Given the description of an element on the screen output the (x, y) to click on. 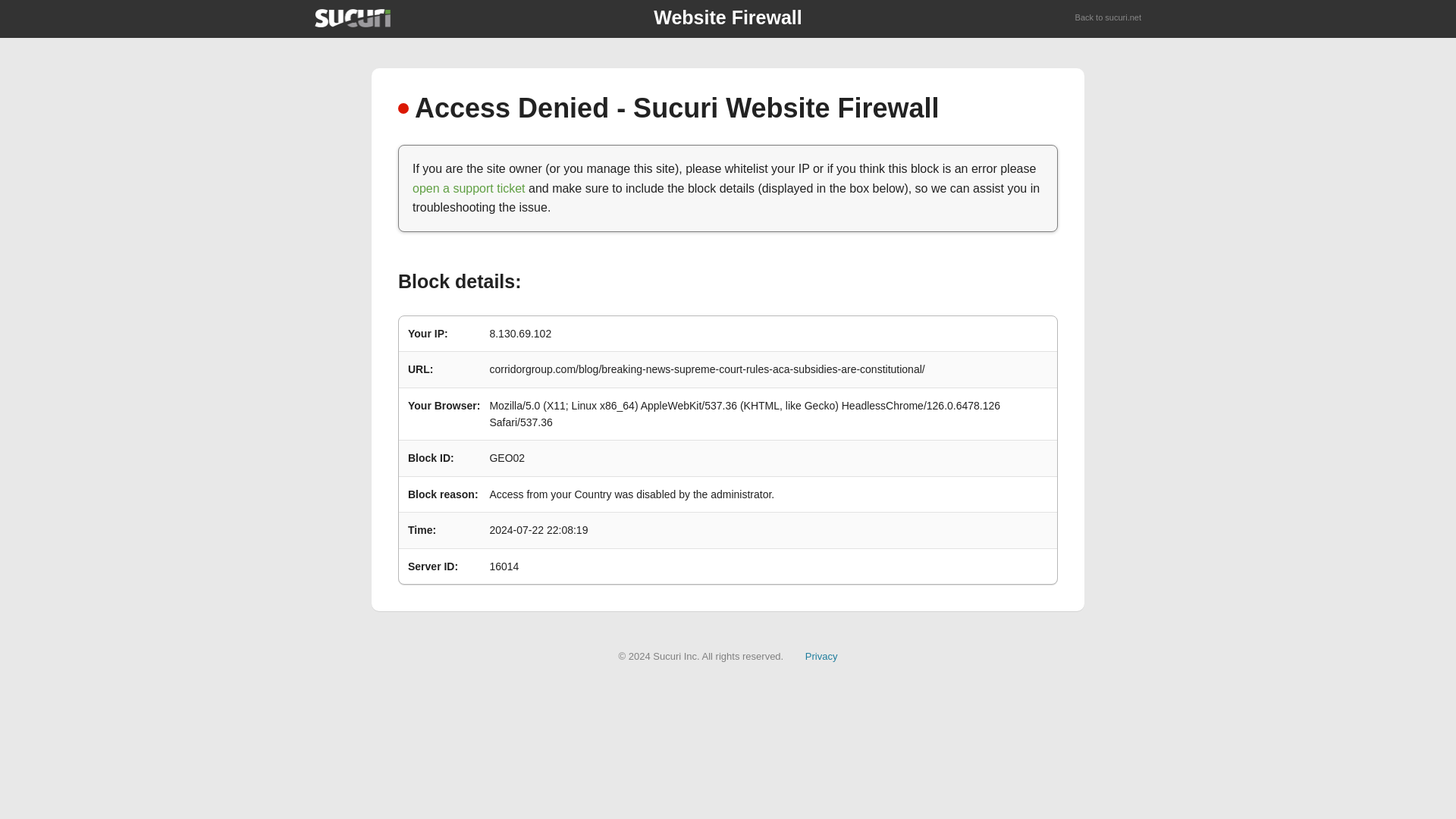
Back to sucuri.net (1108, 18)
Privacy (821, 655)
open a support ticket (468, 187)
